Given the description of an element on the screen output the (x, y) to click on. 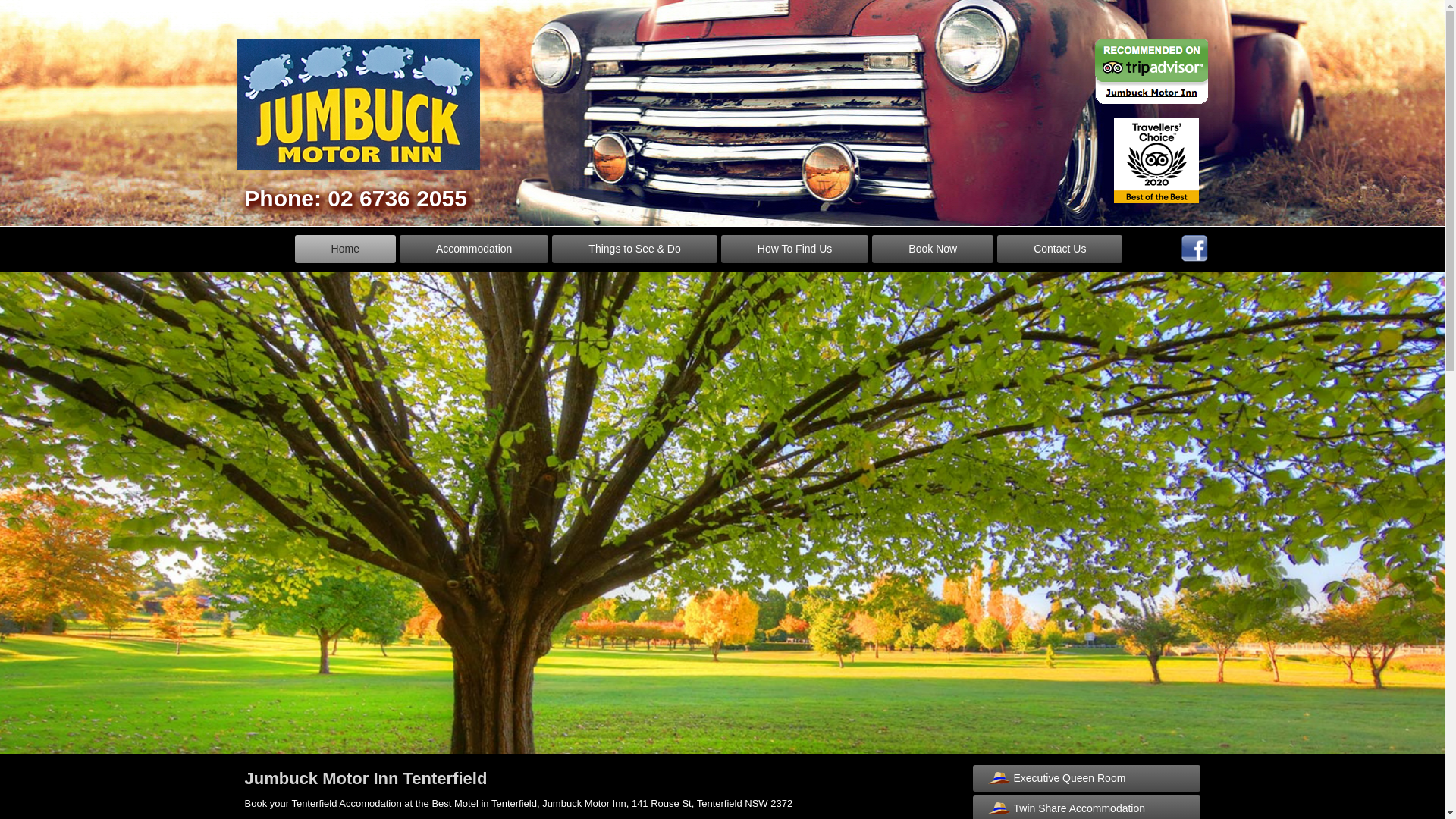
Contact Us Element type: text (1059, 249)
Home Element type: text (344, 249)
Book Now Element type: text (932, 249)
Things to See & Do Element type: text (634, 249)
Jumbuck Motor Inn Tenterfield Element type: text (365, 777)
Executive Queen Room Element type: text (1085, 778)
Trip Advisor Element type: hover (1151, 70)
How To Find Us Element type: text (795, 249)
Accommodation Element type: text (473, 249)
